Given the description of an element on the screen output the (x, y) to click on. 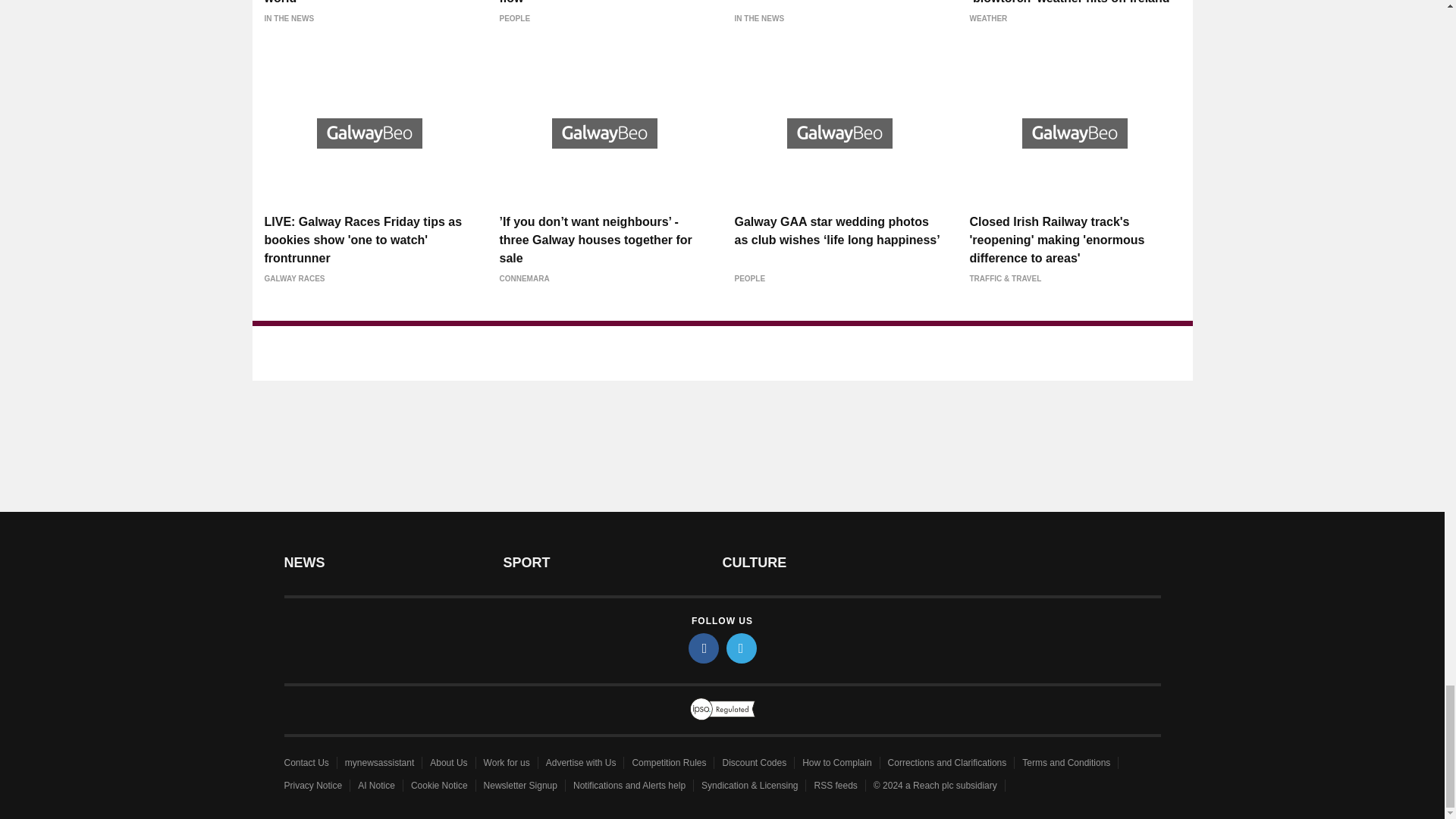
twitter (741, 648)
facebook (703, 648)
